Given the description of an element on the screen output the (x, y) to click on. 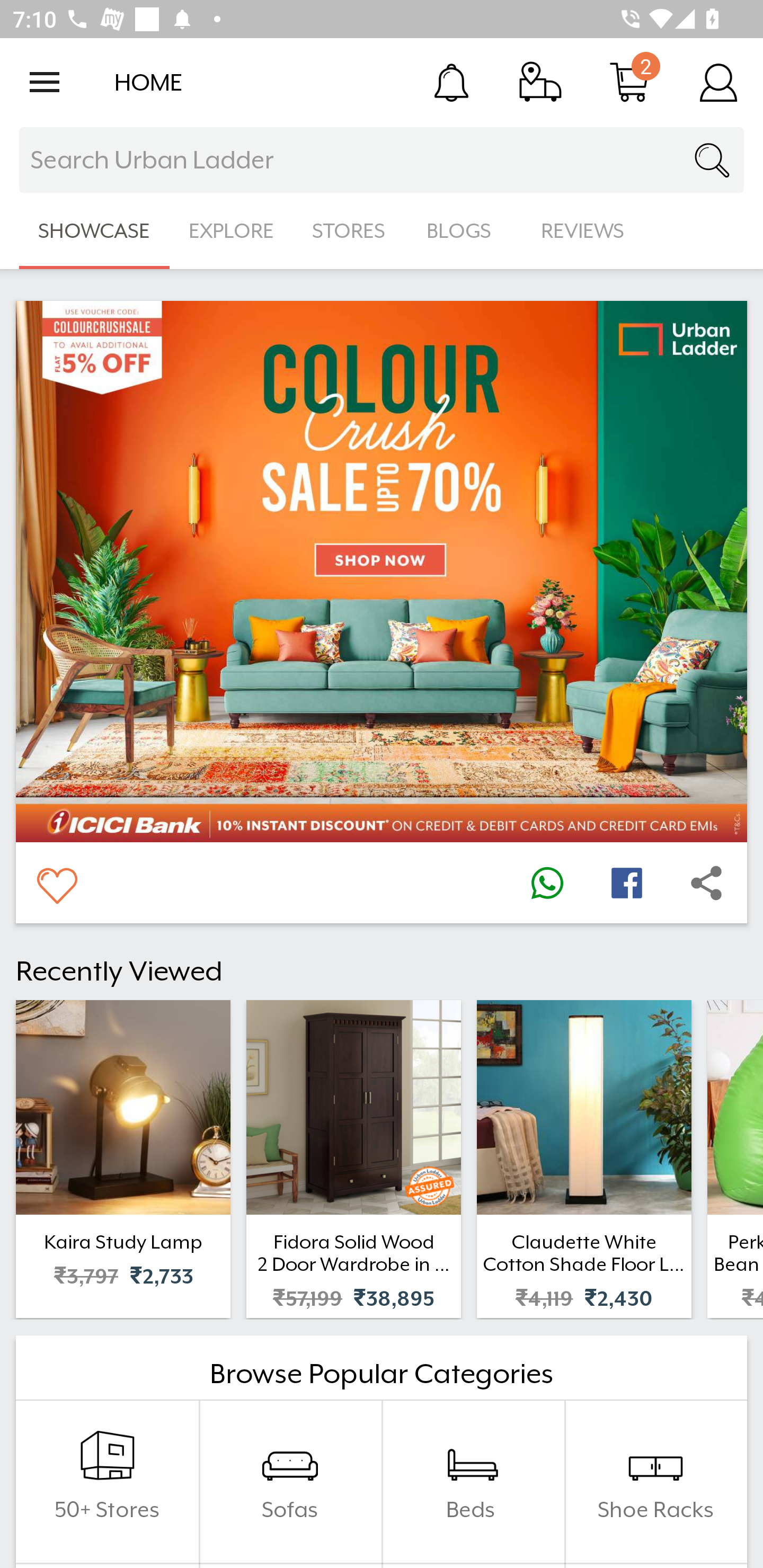
Open navigation drawer (44, 82)
Notification (450, 81)
Track Order (540, 81)
Cart (629, 81)
Account Details (718, 81)
Search Urban Ladder  (381, 159)
SHOWCASE (94, 230)
EXPLORE (230, 230)
STORES (349, 230)
BLOGS (464, 230)
REVIEWS (582, 230)
 (55, 882)
 (547, 882)
 (626, 882)
 (706, 882)
Kaira Study Lamp ₹3,797 ₹2,733 (123, 1159)
50+ Stores (106, 1481)
Sofas (289, 1481)
Beds  (473, 1481)
Shoe Racks (655, 1481)
